Given the description of an element on the screen output the (x, y) to click on. 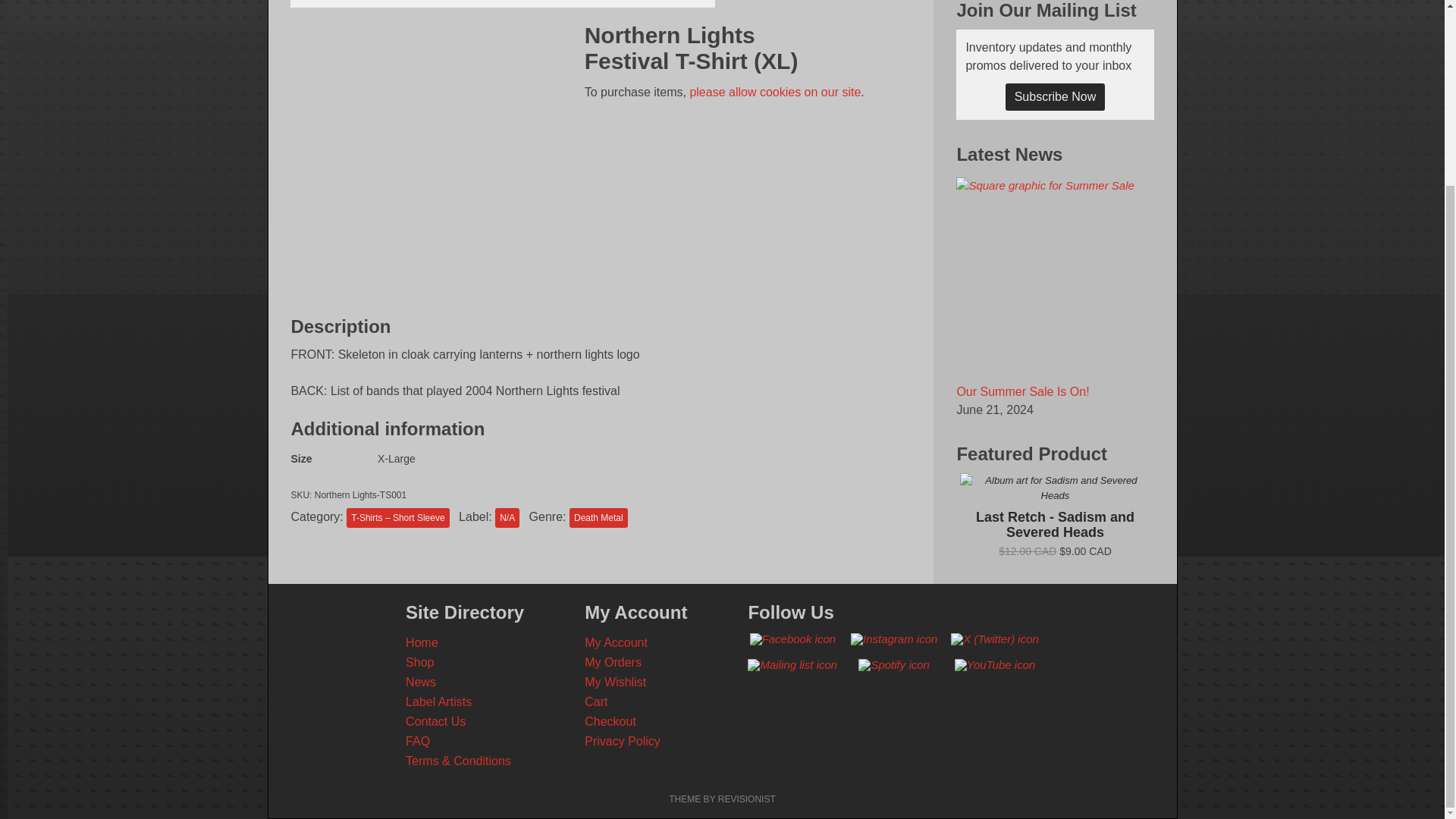
Mailing List (792, 664)
Last Retch - Sadism and Severed Heads (1054, 487)
Shop (419, 662)
Our Summer Sale Is On! (1022, 391)
My Orders (613, 662)
Instagram (893, 639)
Spotify (894, 664)
My Account (616, 642)
News (420, 681)
Home (422, 642)
Cart (596, 701)
Last Retch - Sadism and Severed Heads (1054, 514)
My Wishlist (615, 681)
Subscribe Now (1055, 96)
Contact Us (435, 721)
